Given the description of an element on the screen output the (x, y) to click on. 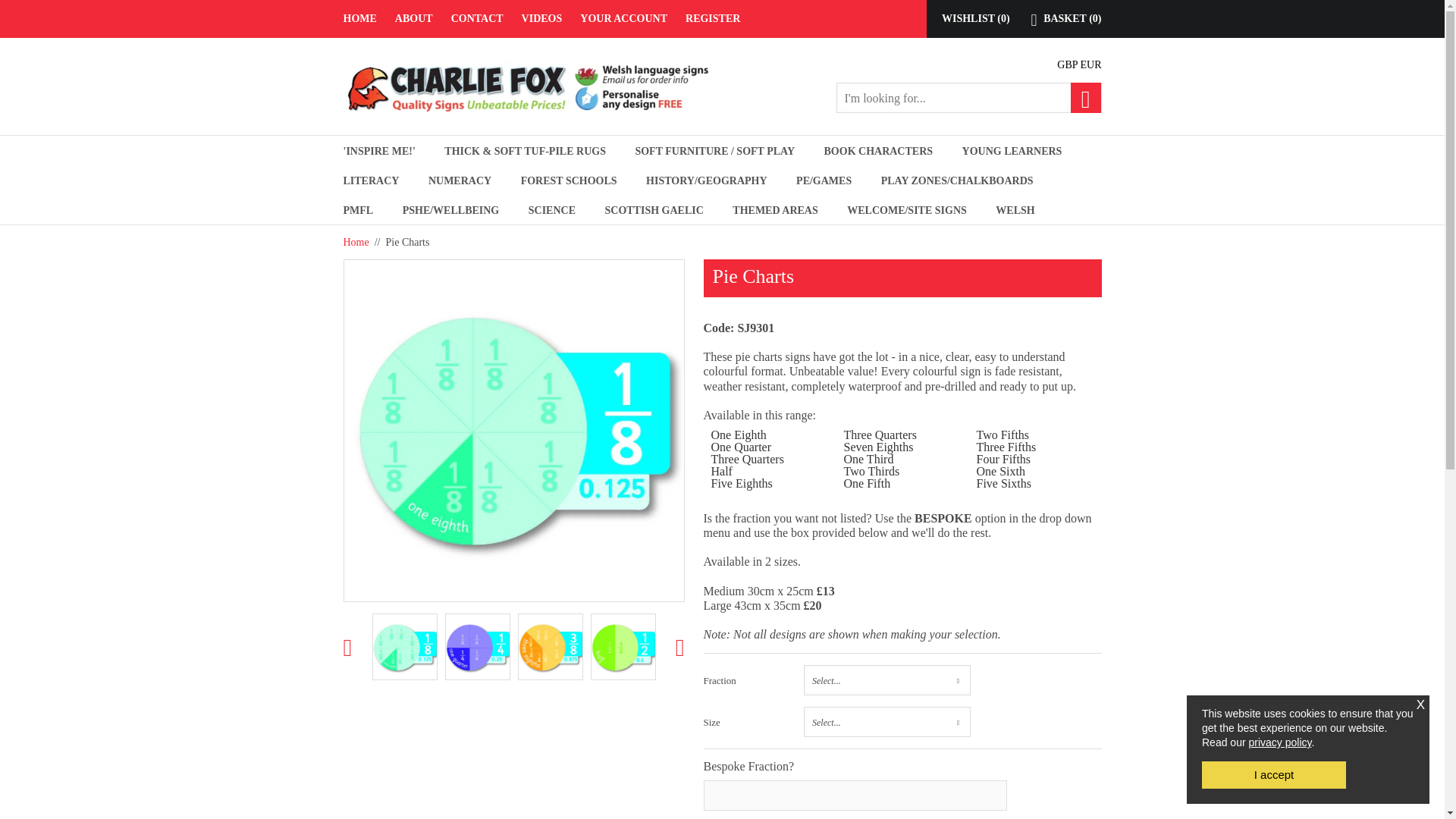
REGISTER (708, 18)
EUR (1090, 64)
CONTACT (477, 18)
YOUR ACCOUNT (623, 18)
'INSPIRE ME!' (378, 150)
YOUNG LEARNERS (1012, 150)
HOME (363, 18)
VIDEOS (542, 18)
ABOUT (413, 18)
BOOK CHARACTERS (878, 150)
